Given the description of an element on the screen output the (x, y) to click on. 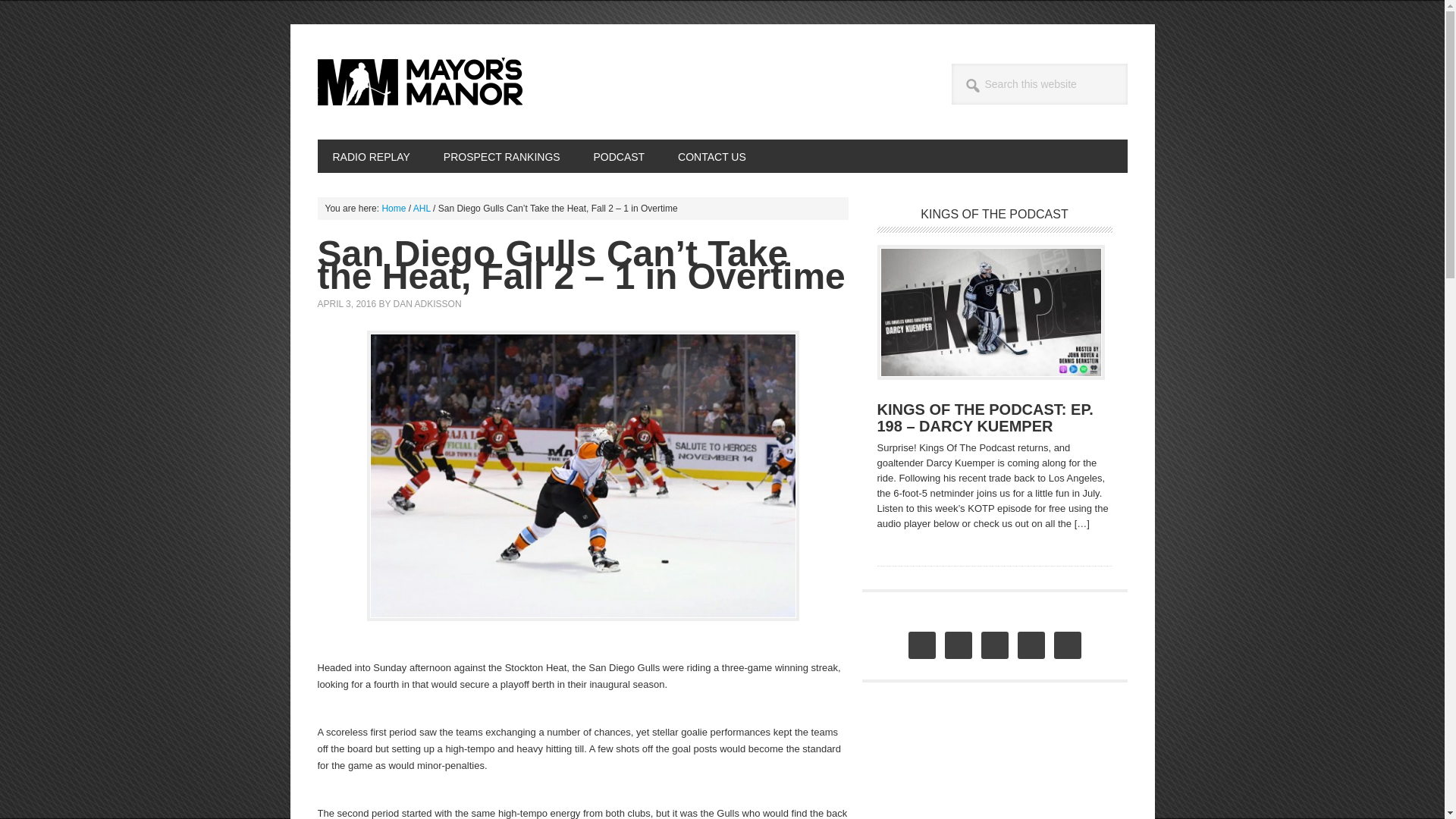
MAYORSMANOR.COM - LA KINGS NEWS (419, 81)
PROSPECT RANKINGS (501, 155)
AHL (421, 208)
RADIO REPLAY (371, 155)
DAN ADKISSON (427, 303)
PODCAST (618, 155)
CONTACT US (711, 155)
3rd party ad content (989, 768)
Home (393, 208)
